Given the description of an element on the screen output the (x, y) to click on. 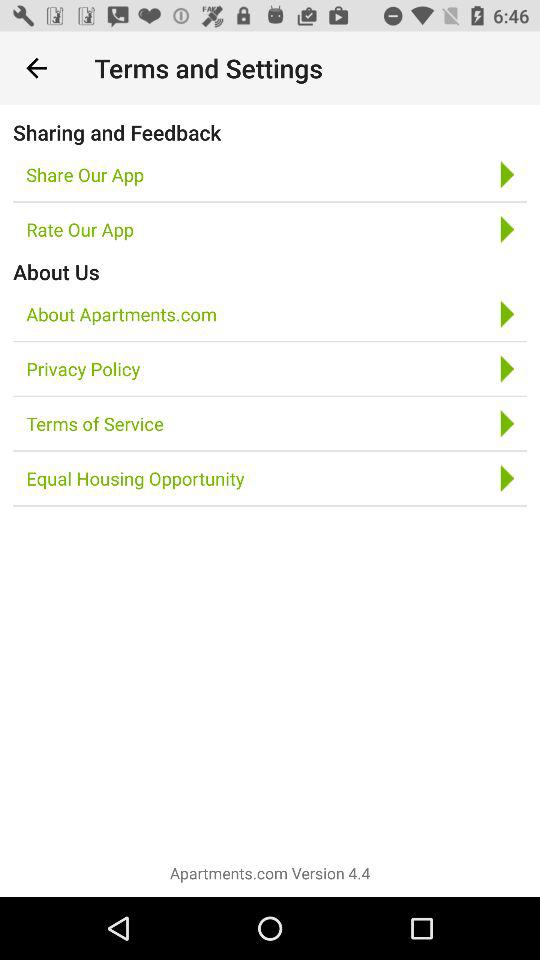
flip until the about us (56, 271)
